Given the description of an element on the screen output the (x, y) to click on. 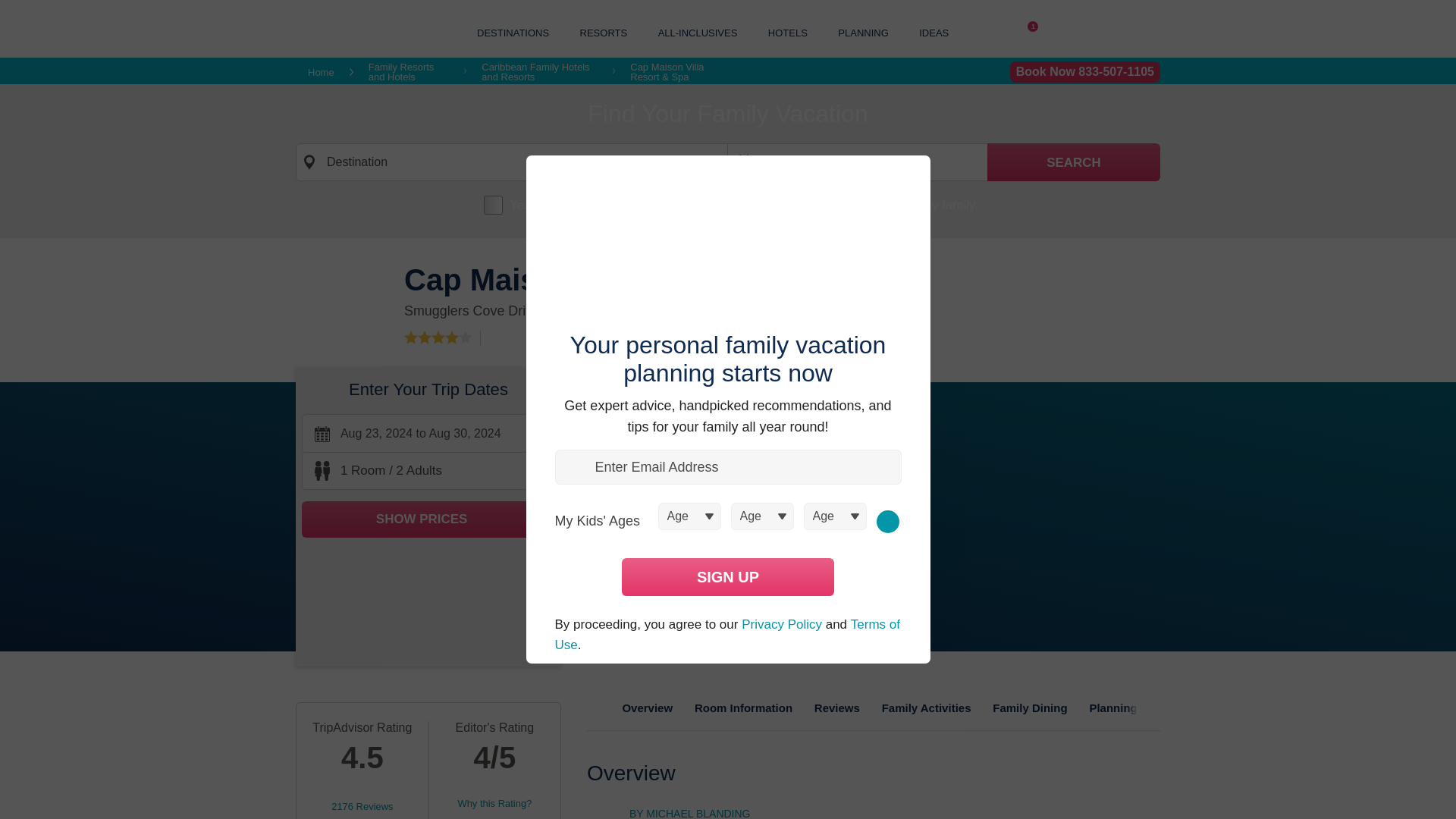
Family Resorts and Hotels (408, 71)
HOTELS (788, 32)
IDEAS (933, 32)
Search (1073, 161)
Caribbean Family Hotels and Resorts (538, 71)
ALL-INCLUSIVES (698, 32)
Sign Up (727, 576)
DESTINATIONS (512, 32)
PLANNING (863, 32)
Home (320, 71)
